Given the description of an element on the screen output the (x, y) to click on. 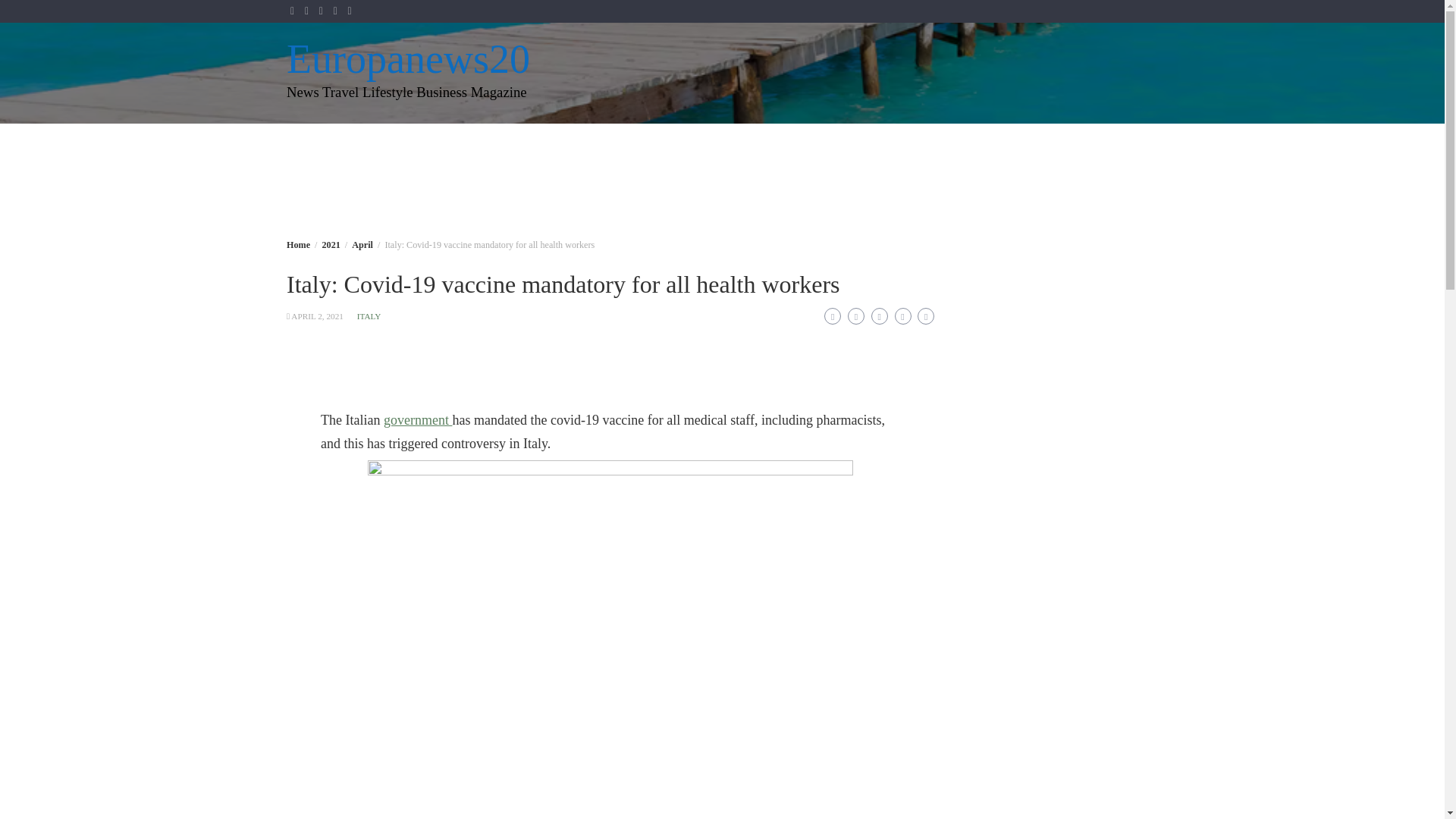
Things To Do (620, 181)
government (417, 419)
NEWS (1050, 141)
CAR RENTAL (719, 181)
ITALY (368, 316)
NEWSLETTER (744, 141)
2021 (330, 244)
TRAVEL RESOURCES (946, 141)
April (362, 244)
HOTELS (836, 141)
